Given the description of an element on the screen output the (x, y) to click on. 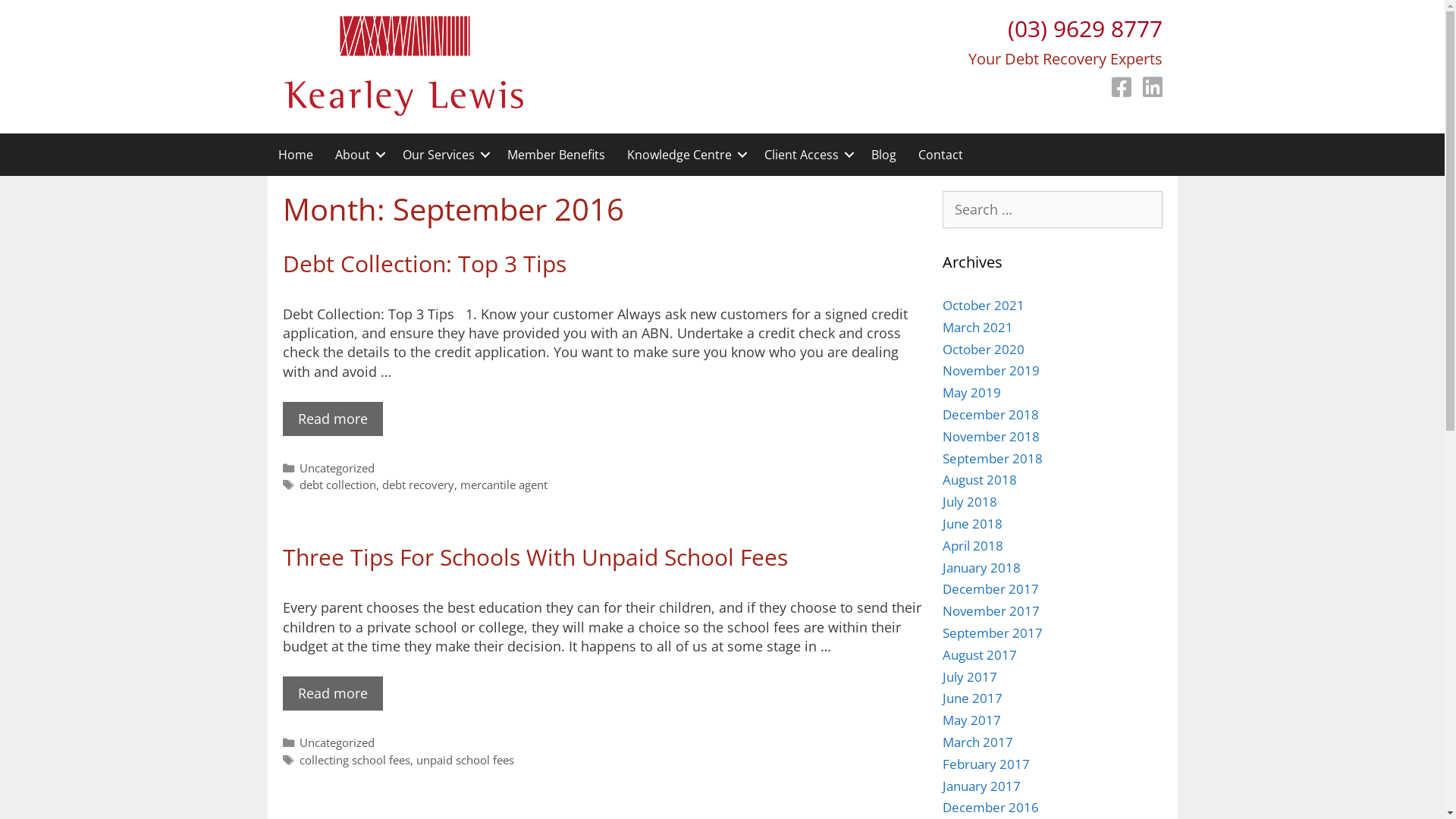
August 2017 Element type: text (978, 654)
Blog Element type: text (882, 154)
March 2017 Element type: text (976, 741)
collecting school fees Element type: text (354, 759)
January 2018 Element type: text (980, 567)
debt recovery Element type: text (418, 484)
Debt Collection: Top 3 Tips Element type: text (423, 263)
Member Benefits Element type: text (555, 154)
July 2018 Element type: text (968, 501)
November 2019 Element type: text (989, 370)
December 2018 Element type: text (989, 414)
Uncategorized Element type: text (336, 467)
January 2017 Element type: text (980, 785)
May 2017 Element type: text (970, 719)
June 2018 Element type: text (971, 523)
April 2018 Element type: text (971, 545)
KL-LOGO-RED Element type: hover (403, 66)
(03) 9629 8777 Element type: text (1084, 27)
June 2017 Element type: text (971, 697)
November 2018 Element type: text (989, 436)
Home Element type: text (294, 154)
February 2017 Element type: text (985, 763)
unpaid school fees Element type: text (465, 759)
November 2017 Element type: text (989, 610)
July 2017 Element type: text (968, 676)
Search Element type: text (37, 18)
September 2017 Element type: text (991, 632)
Search for: Element type: hover (1051, 209)
December 2017 Element type: text (989, 588)
Knowledge Centre Element type: text (683, 154)
Contact Element type: text (939, 154)
October 2021 Element type: text (982, 304)
debt collection Element type: text (337, 484)
mercantile agent Element type: text (503, 484)
May 2019 Element type: text (970, 392)
September 2018 Element type: text (991, 458)
March 2021 Element type: text (976, 326)
August 2018 Element type: text (978, 479)
Three Tips For Schools With Unpaid School Fees Element type: text (534, 556)
Our Services Element type: text (443, 154)
Uncategorized Element type: text (336, 741)
Client Access Element type: text (806, 154)
Read more Element type: text (332, 693)
October 2020 Element type: text (982, 348)
December 2016 Element type: text (989, 806)
Read more Element type: text (332, 418)
About Element type: text (357, 154)
